Given the description of an element on the screen output the (x, y) to click on. 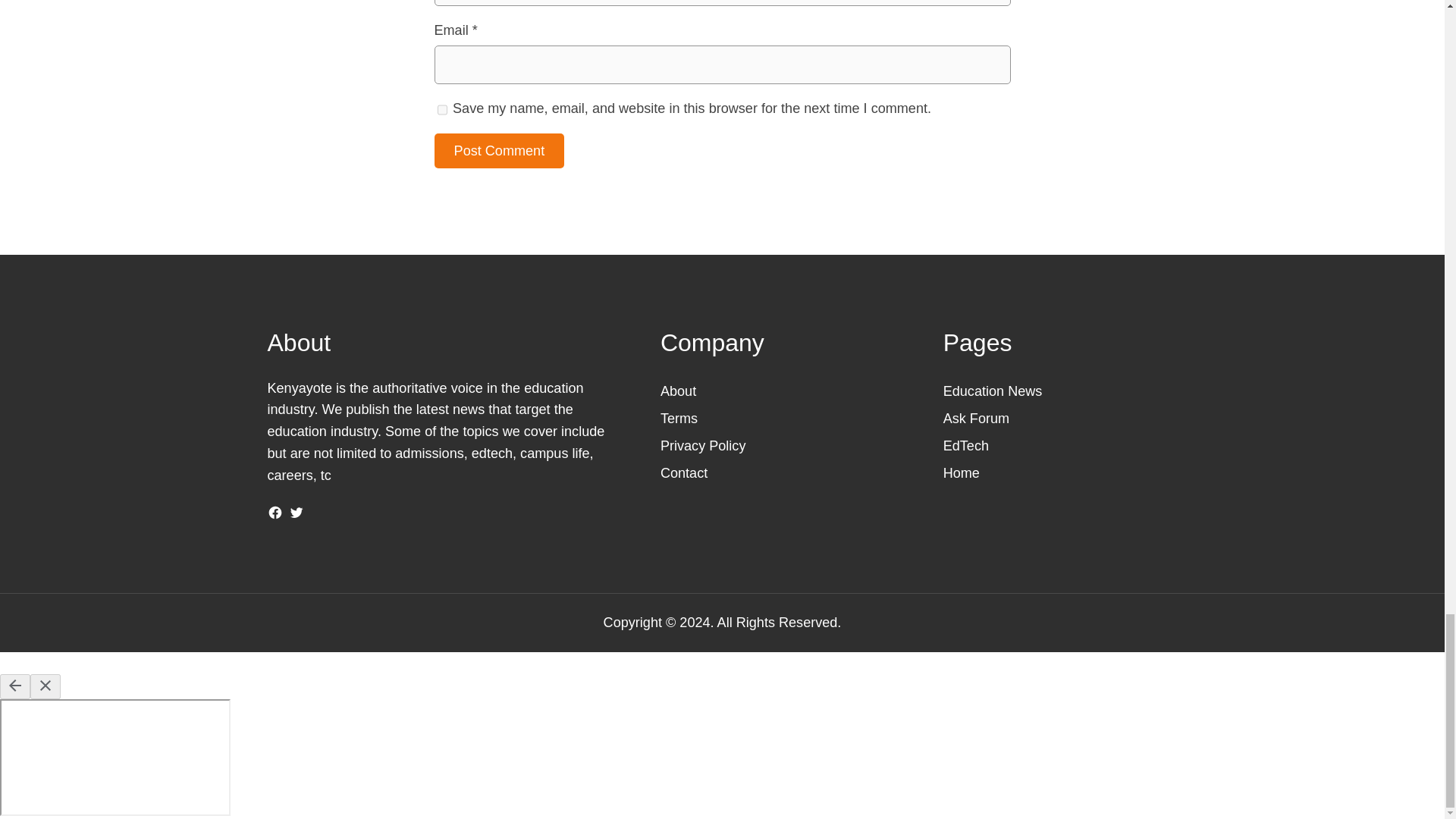
Terms (679, 418)
Contact (684, 473)
Post Comment (498, 150)
About (678, 391)
Privacy Policy (703, 445)
Post Comment (498, 150)
Education News (992, 391)
EdTech (965, 445)
Home (961, 473)
Facebook (274, 512)
